Given the description of an element on the screen output the (x, y) to click on. 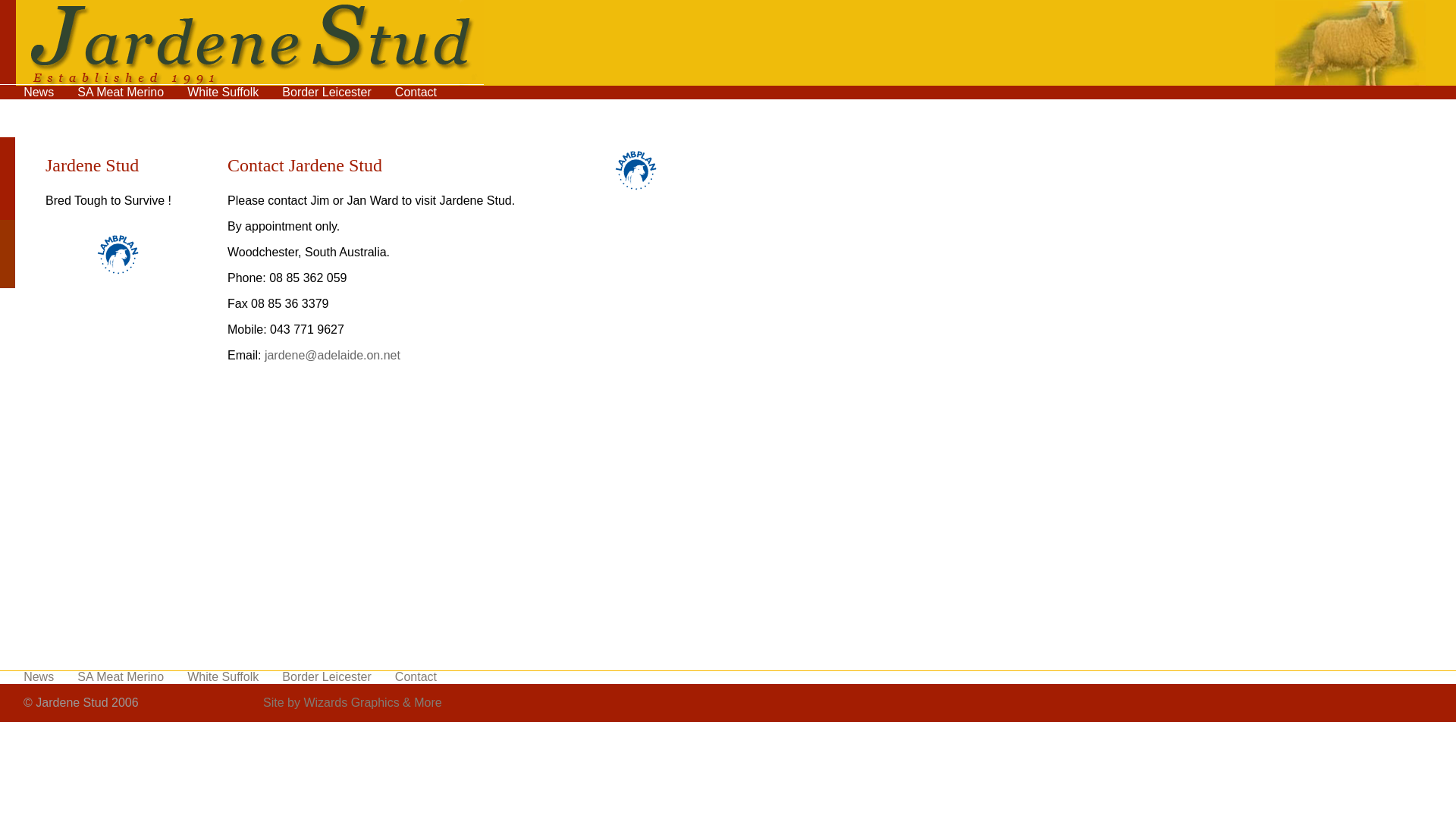
Border Leicester Element type: text (326, 91)
Contact Element type: text (415, 91)
Site by Wizards Graphics & More Element type: text (352, 702)
White Suffolk Element type: text (222, 91)
jardene@adelaide.on.net Element type: text (332, 354)
News Element type: text (38, 91)
SA Meat Merino Element type: text (120, 676)
News Element type: text (38, 676)
Border Leicester Element type: text (326, 676)
White Suffolk Element type: text (222, 676)
Contact Element type: text (415, 676)
SA Meat Merino Element type: text (120, 91)
